Given the description of an element on the screen output the (x, y) to click on. 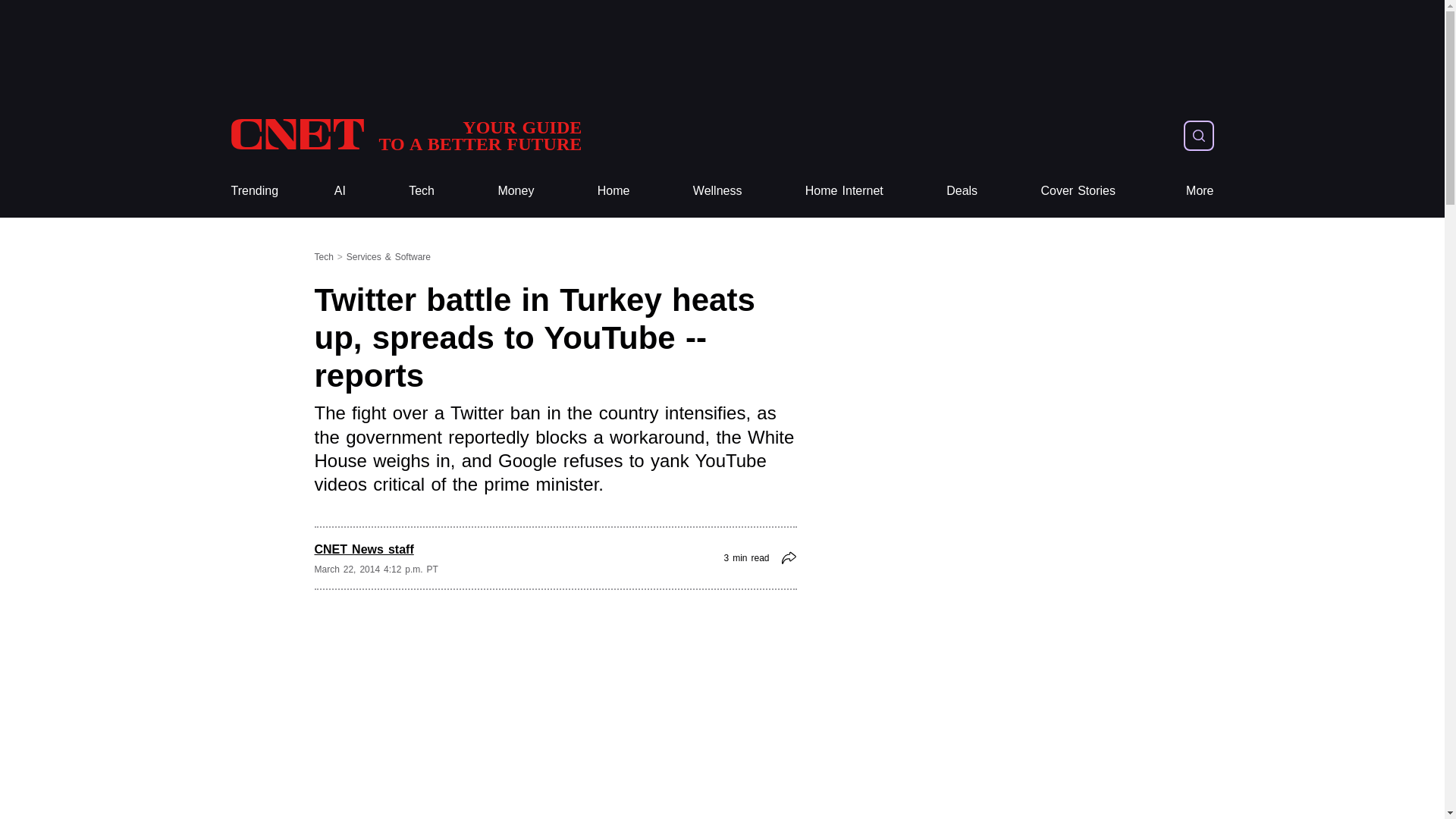
Wellness (717, 190)
Tech (421, 190)
Money (515, 190)
Home Internet (405, 135)
Home (844, 190)
CNET (613, 190)
Home Internet (405, 135)
Tech (844, 190)
Trending (421, 190)
